Given the description of an element on the screen output the (x, y) to click on. 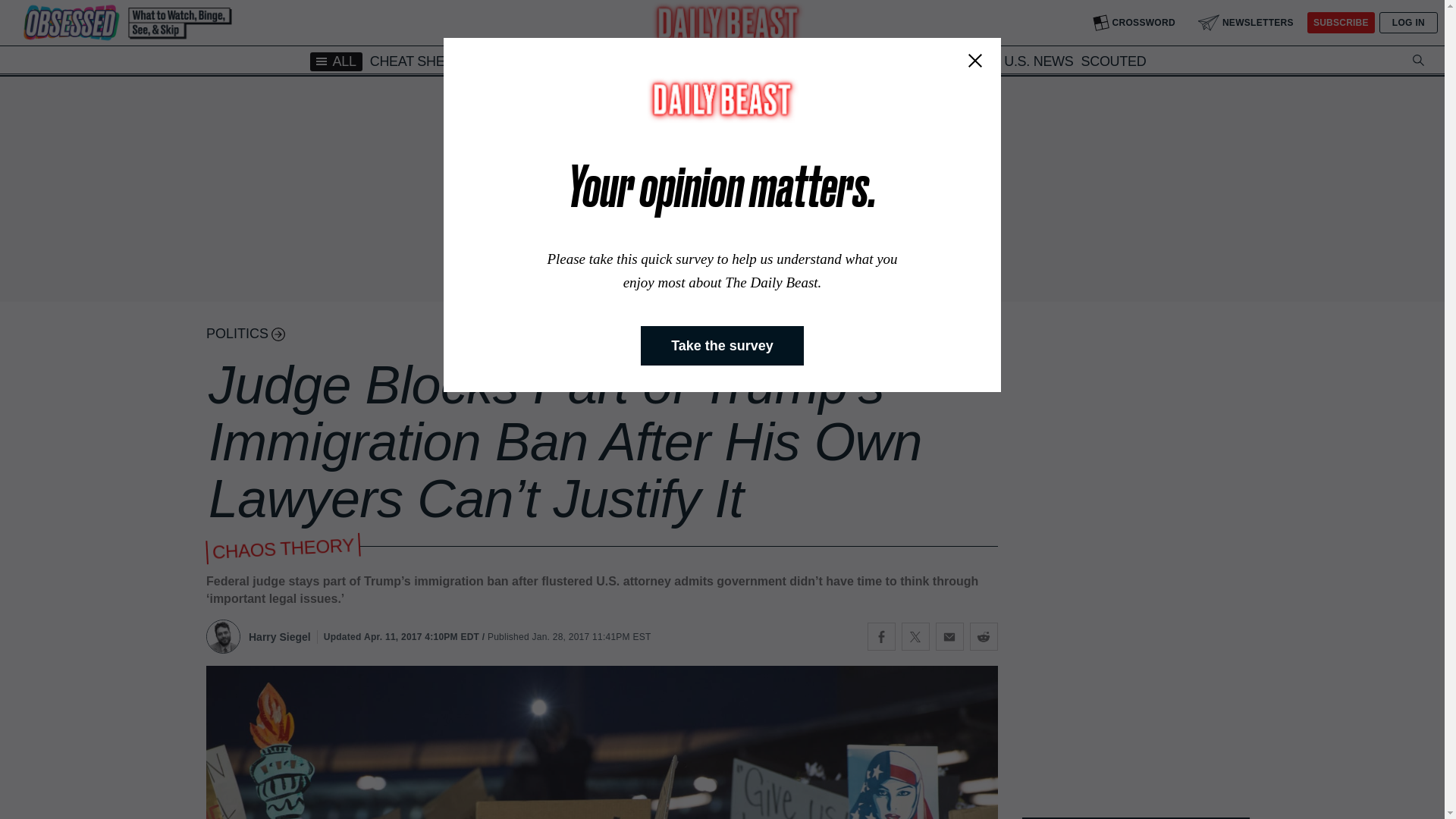
SUBSCRIBE (1340, 22)
INNOVATION (955, 60)
SCOUTED (1114, 60)
OPINION (879, 60)
OBSESSED (555, 60)
ENTERTAINMENT (788, 60)
LOG IN (1408, 22)
U.S. NEWS (1038, 60)
MEDIA (490, 60)
ROYALS (625, 60)
NEWSLETTERS (1246, 22)
CHEAT SHEET (415, 60)
POLITICS (692, 61)
ALL (336, 60)
CROSSWORD (1134, 22)
